Given the description of an element on the screen output the (x, y) to click on. 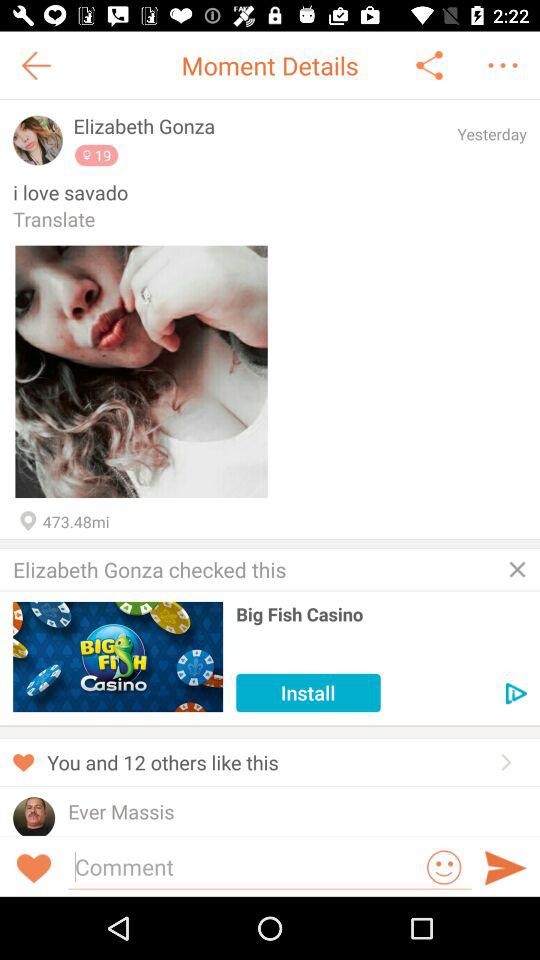
open ever massis (121, 811)
